Given the description of an element on the screen output the (x, y) to click on. 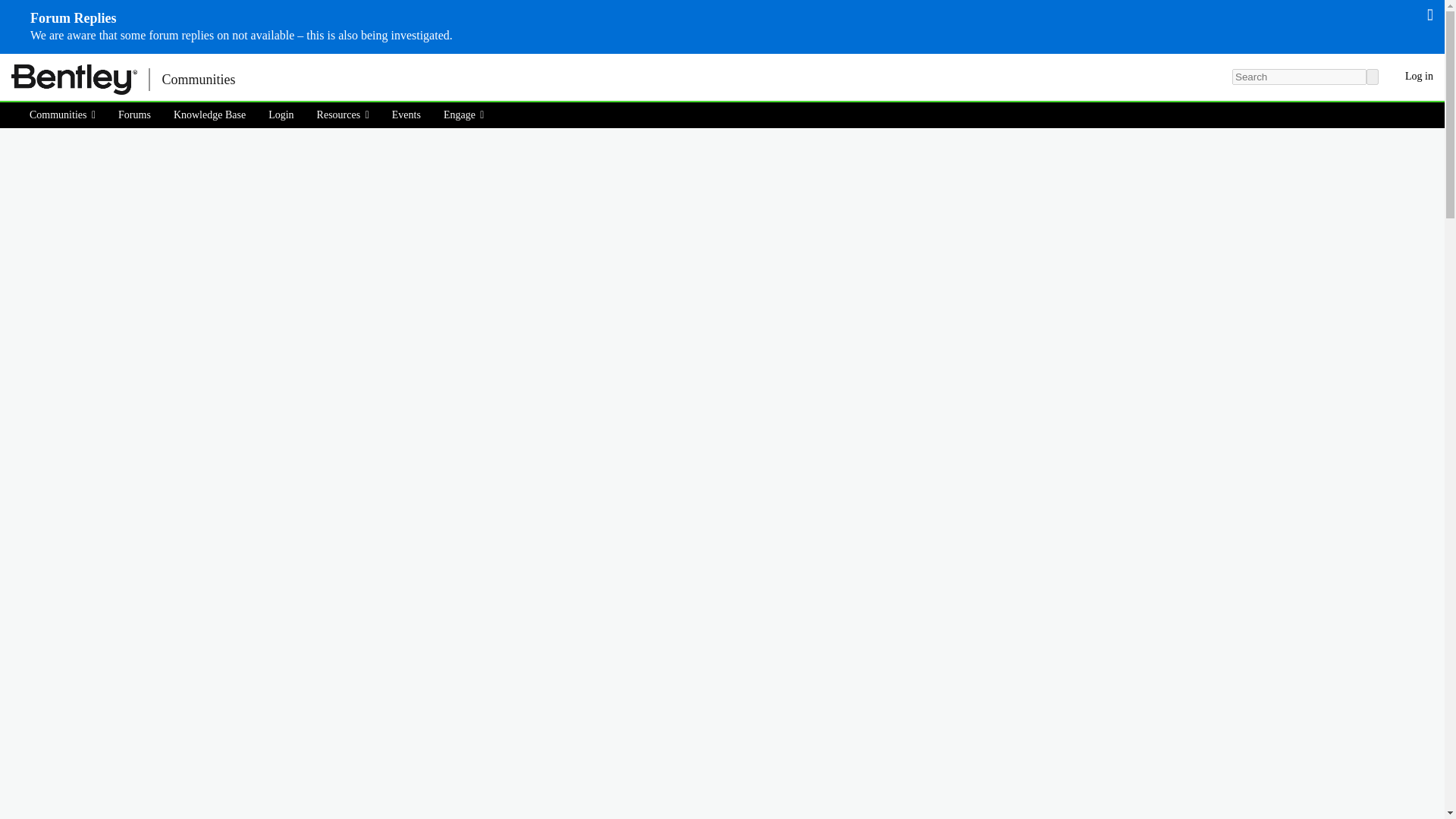
Communities (67, 114)
Login (280, 114)
Toggle navigation (273, 79)
Skip to main content (8, 63)
Resources (342, 114)
Forums (133, 114)
Communities (197, 79)
Knowledge Base (209, 114)
Dismiss announcement Forum Replies (1430, 14)
Events (406, 114)
Engage (464, 114)
